Given the description of an element on the screen output the (x, y) to click on. 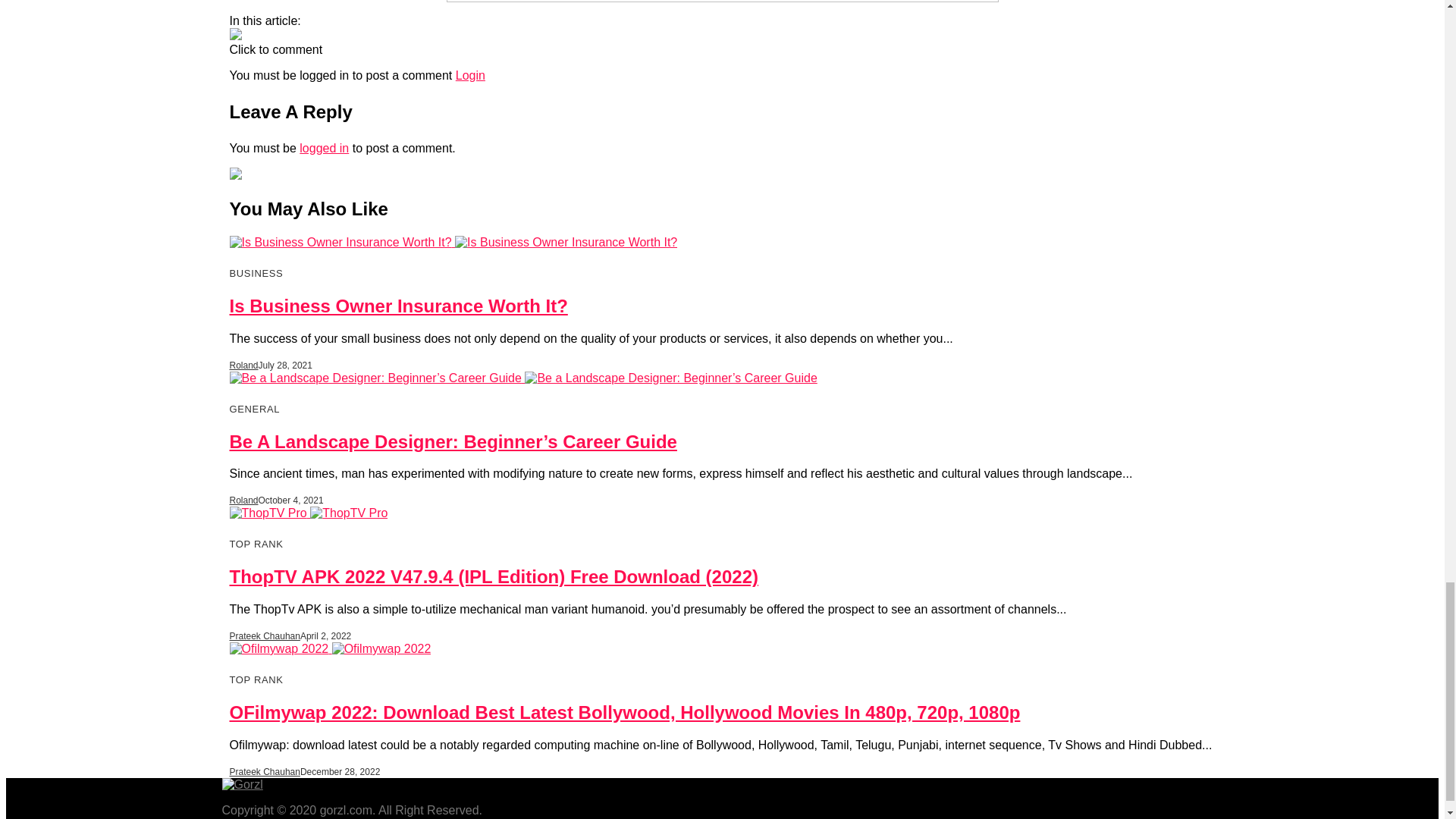
Posts by Prateek Chauhan (263, 635)
Posts by Prateek Chauhan (263, 771)
Posts by Roland (242, 500)
Posts by Roland (242, 365)
